Given the description of an element on the screen output the (x, y) to click on. 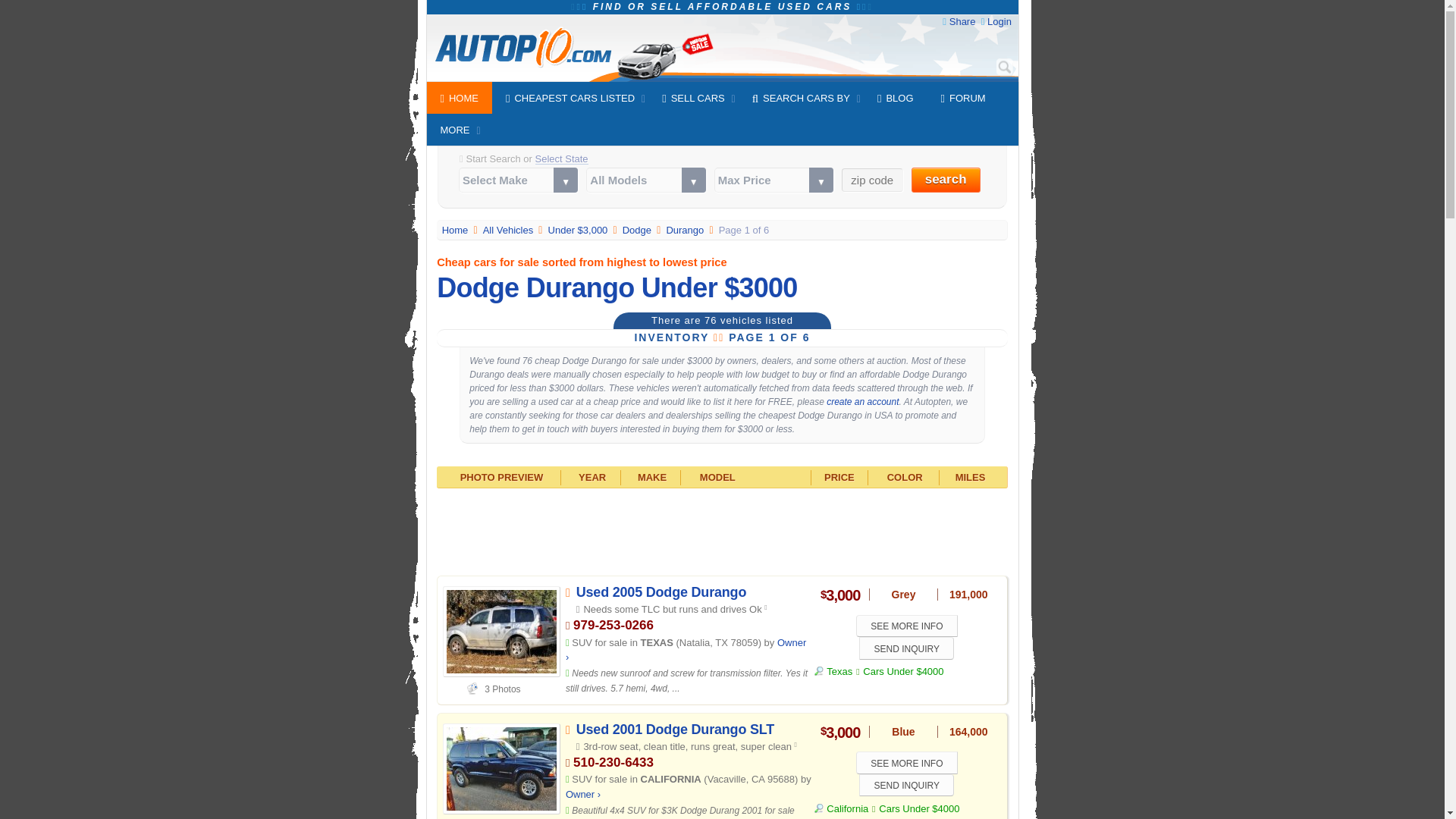
Home (456, 229)
All Vehicles (509, 229)
MORE (454, 129)
View all Dodge vehicles listed (638, 229)
Texas (832, 671)
Owner inventory (582, 794)
Search (1004, 66)
Share (962, 21)
Used 2005 Dodge Durango (660, 591)
SEE MORE INFO (907, 626)
Advertisement (721, 530)
Search (1004, 66)
Used 2001 Dodge Durango SLT (675, 729)
Dodge (638, 229)
Autopten.com Home (456, 229)
